Given the description of an element on the screen output the (x, y) to click on. 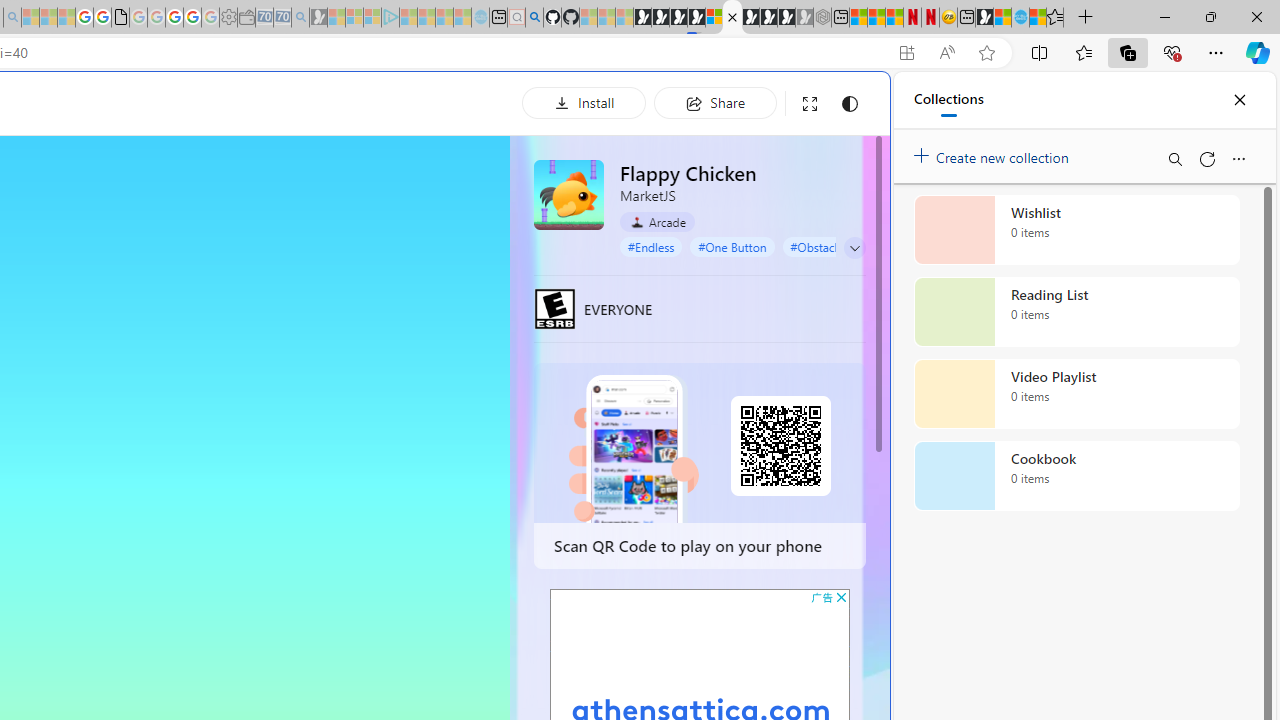
Video Playlist collection, 0 items (1076, 394)
#Endless (651, 246)
#Obstacle Course (837, 246)
Frequently visited (418, 265)
github - Search (534, 17)
Create new collection (994, 153)
Cookbook collection, 0 items (1076, 475)
